Given the description of an element on the screen output the (x, y) to click on. 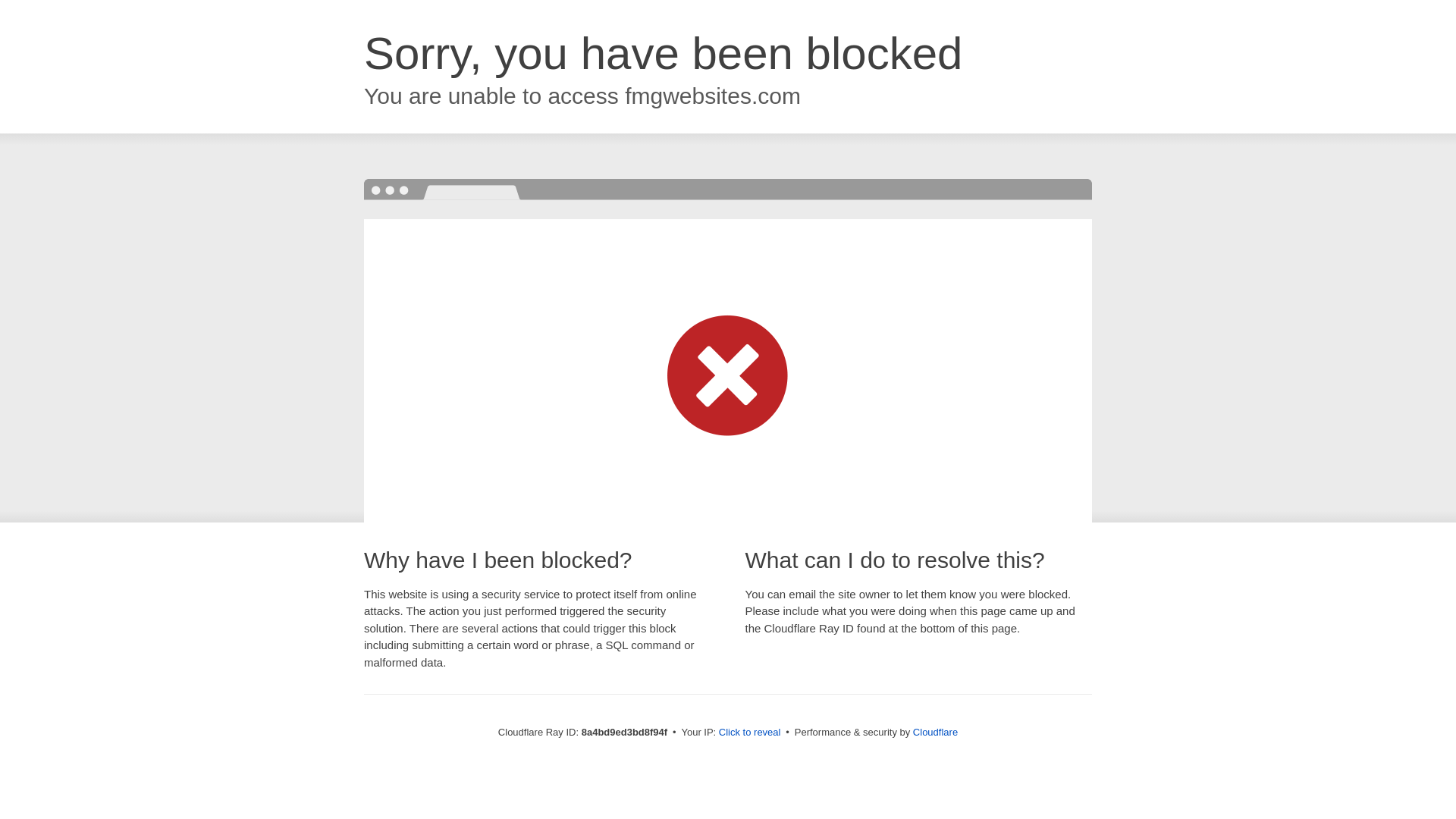
Click to reveal (749, 732)
Cloudflare (935, 731)
